Given the description of an element on the screen output the (x, y) to click on. 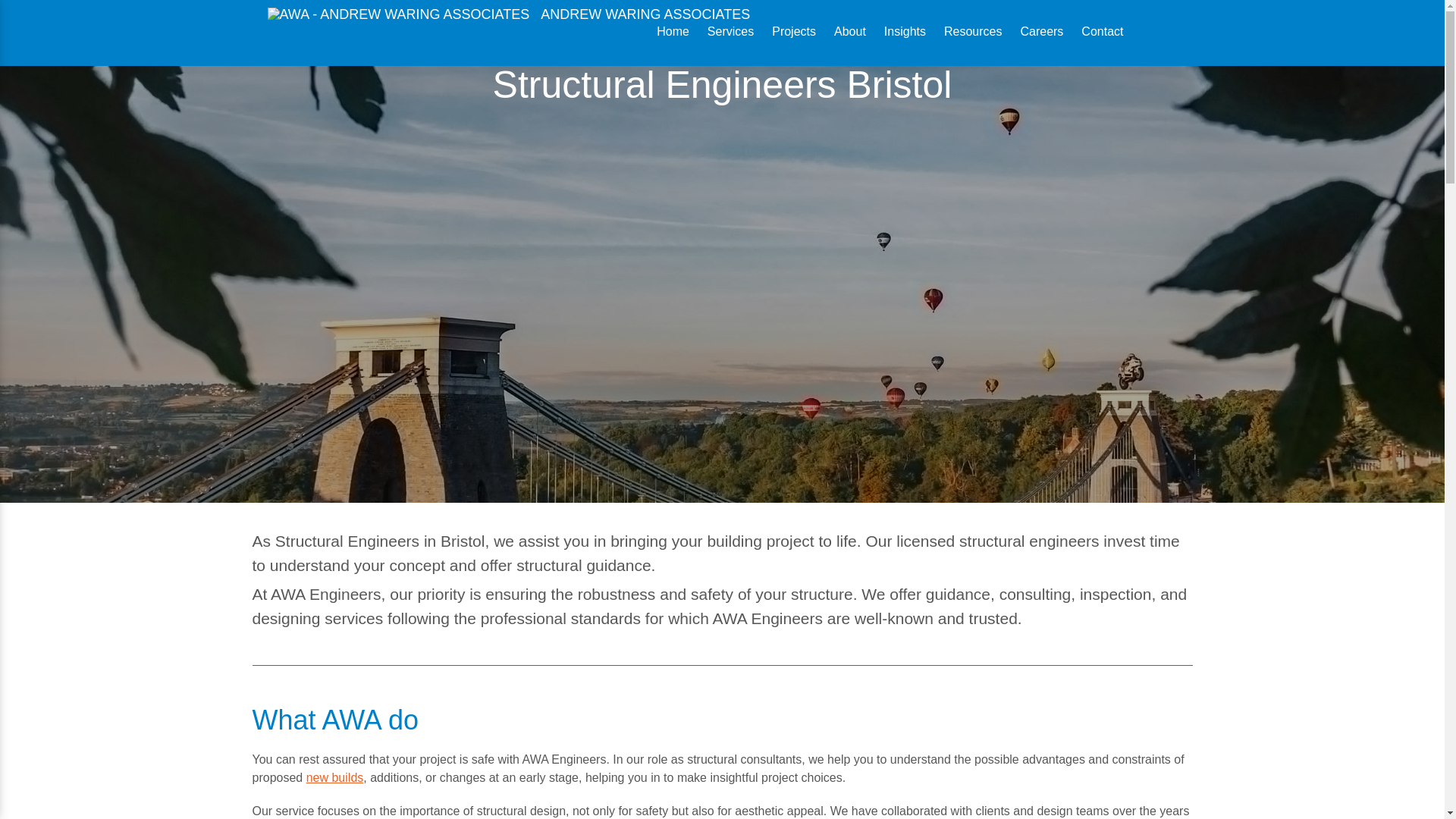
ANDREW WARING ASSOCIATES (507, 14)
